Given the description of an element on the screen output the (x, y) to click on. 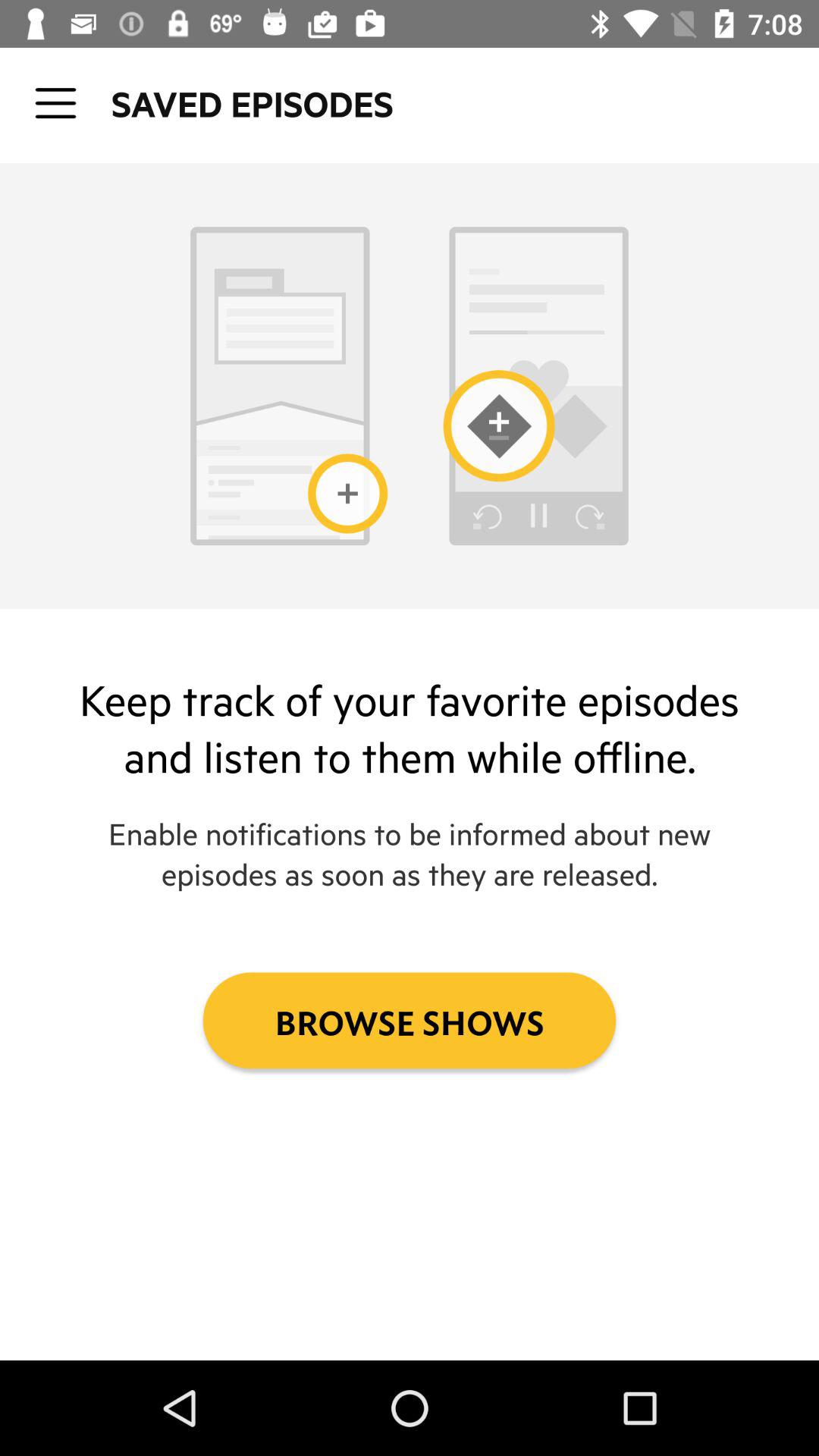
launch the icon below enable notifications to (409, 1020)
